Given the description of an element on the screen output the (x, y) to click on. 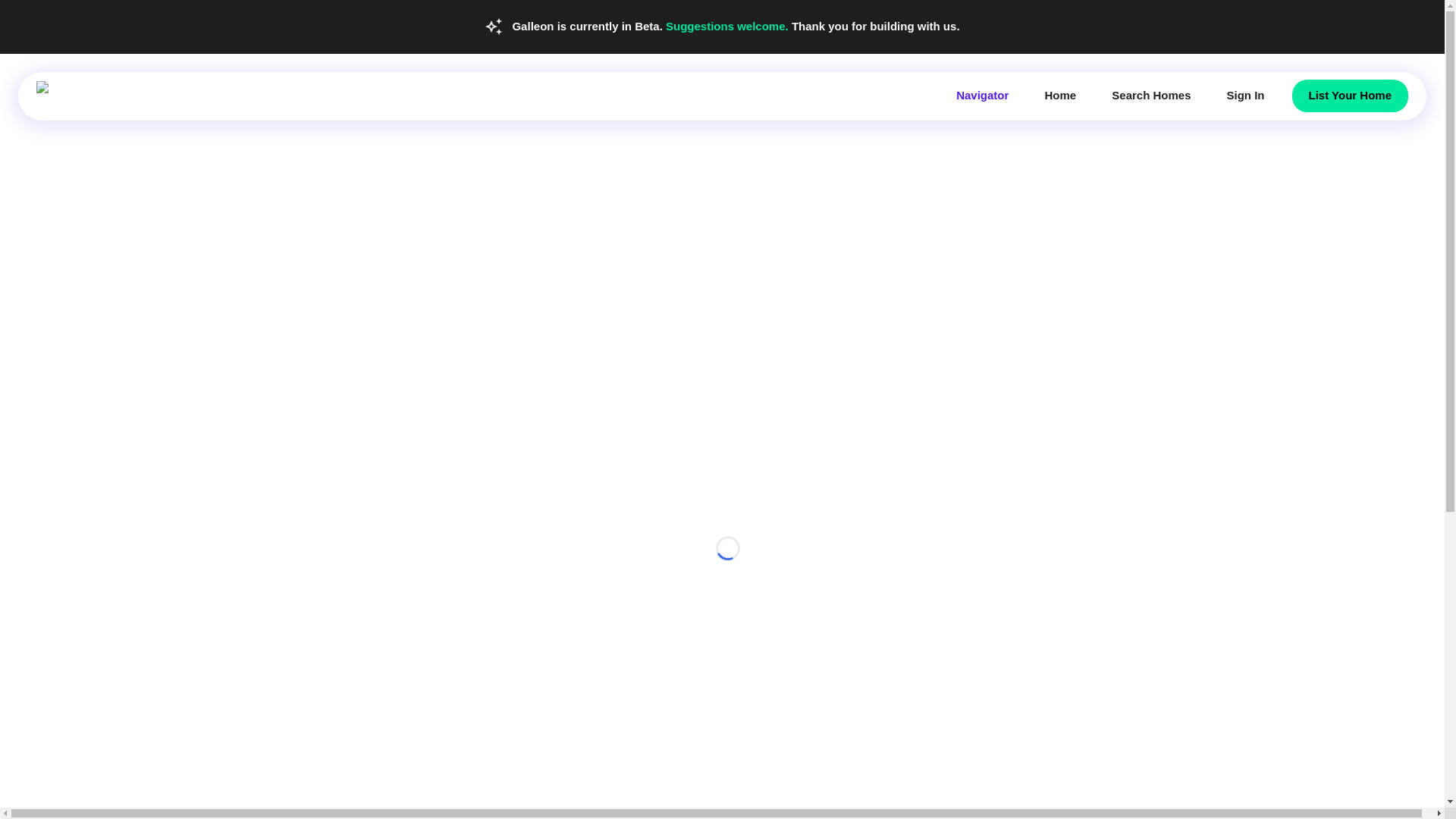
List Your Home (1349, 95)
Navigator (981, 95)
Suggestions welcome. (728, 25)
Home (1059, 95)
Search Homes (1150, 95)
Sign In (1245, 95)
